Given the description of an element on the screen output the (x, y) to click on. 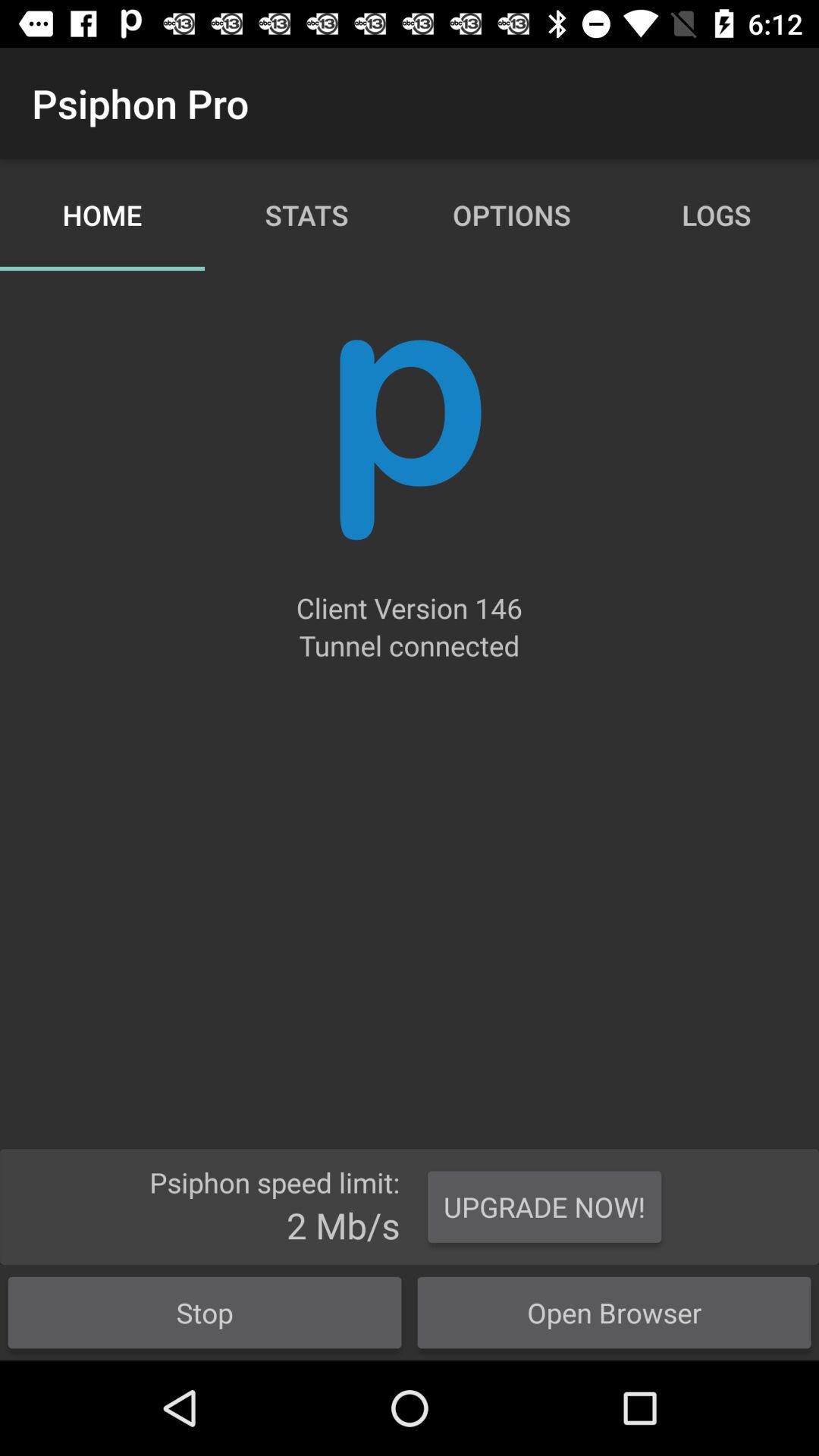
press the item to the left of the open browser button (204, 1312)
